Given the description of an element on the screen output the (x, y) to click on. 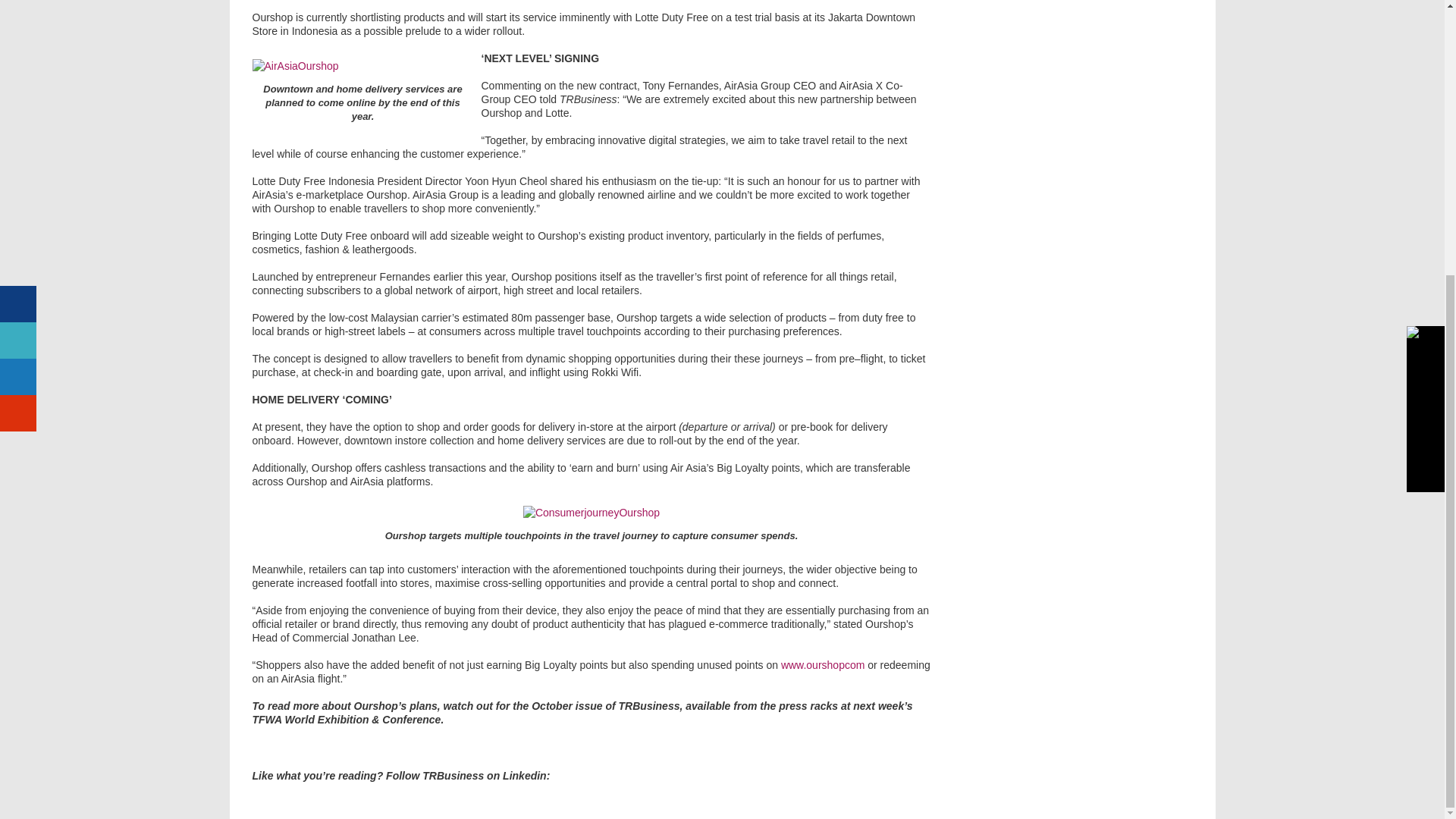
AirAsiaOurshop (294, 65)
ConsumerjourneyOurshop (590, 512)
